Given the description of an element on the screen output the (x, y) to click on. 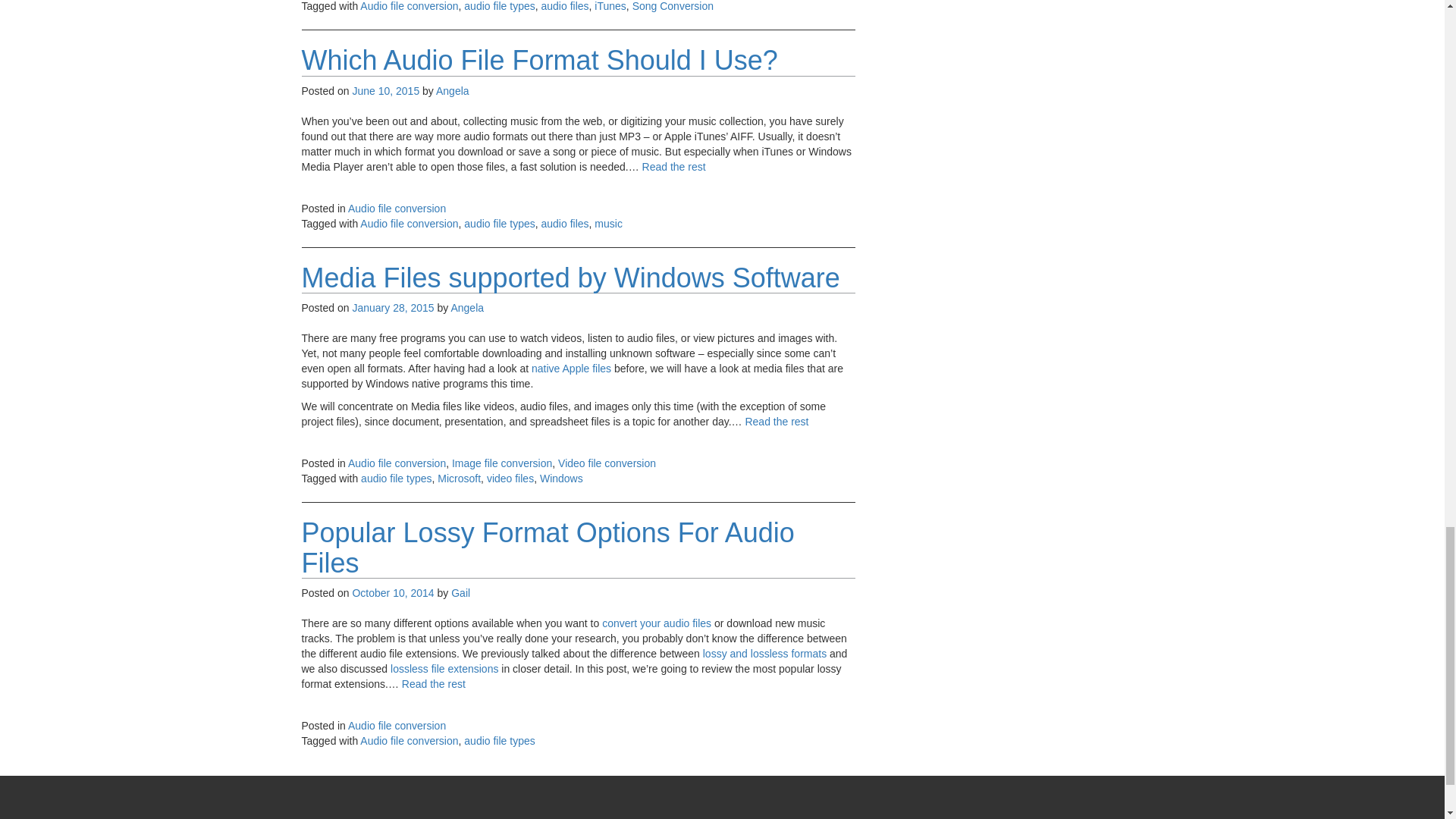
17:58 (385, 91)
View all posts by Gail (460, 592)
View all posts by Angela (451, 91)
17:35 (392, 307)
14:51 (392, 592)
View all posts by Angela (466, 307)
